Given the description of an element on the screen output the (x, y) to click on. 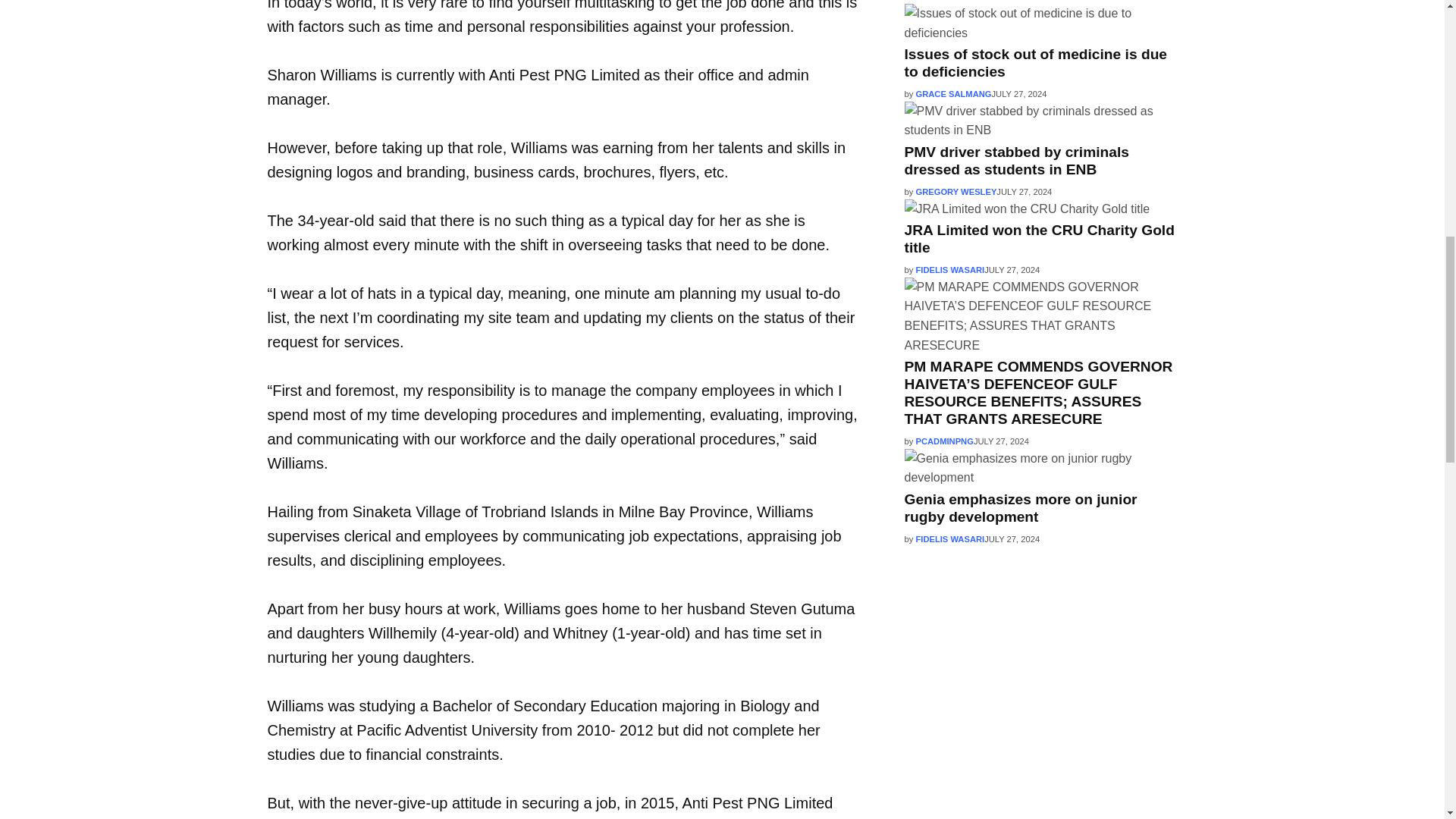
VideoPress Video Player (1040, 647)
VideoPress Video Player (1040, 783)
